Given the description of an element on the screen output the (x, y) to click on. 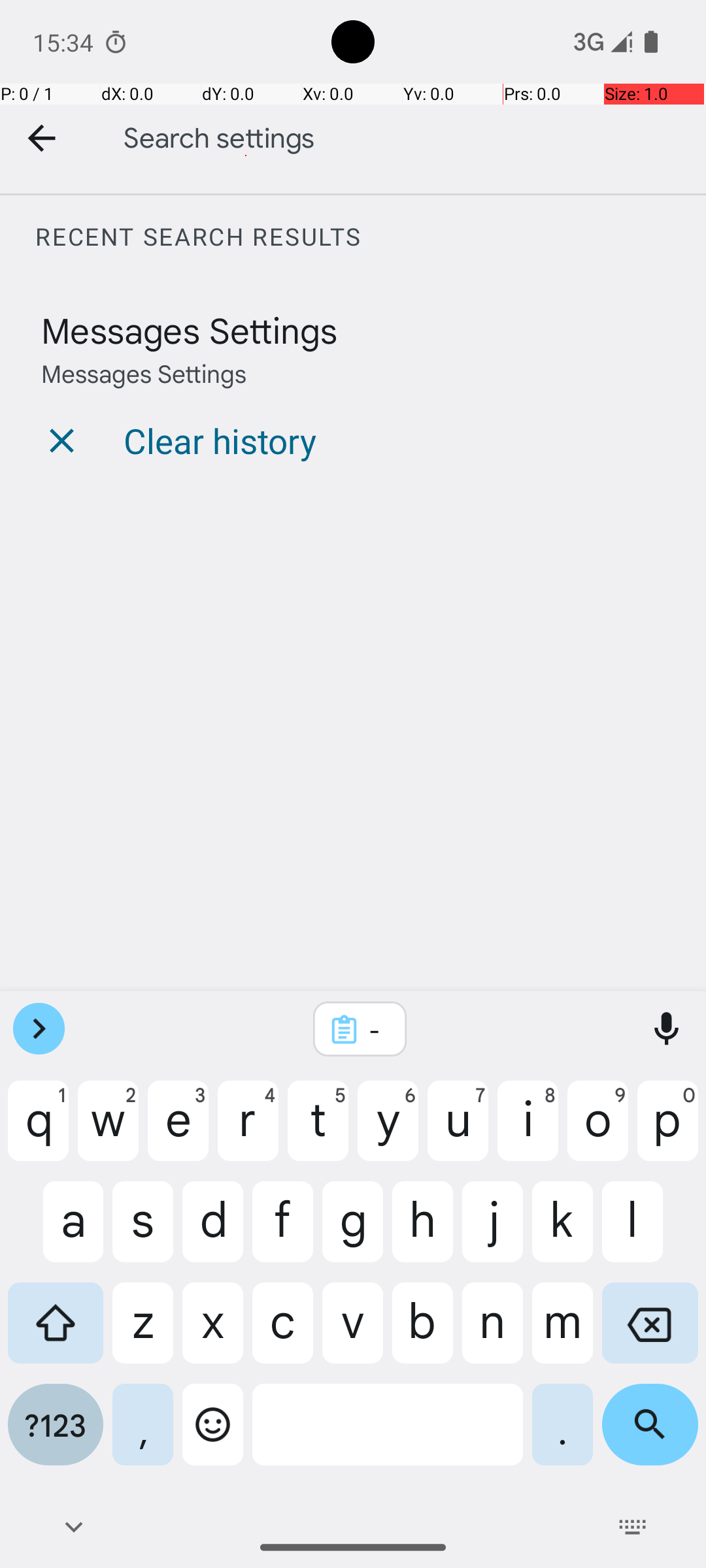
RECENT SEARCH RESULTS Element type: android.widget.TextView (370, 236)
Messages Settings Element type: android.widget.TextView (189, 329)
Clear history Element type: android.widget.TextView (219, 440)
